Given the description of an element on the screen output the (x, y) to click on. 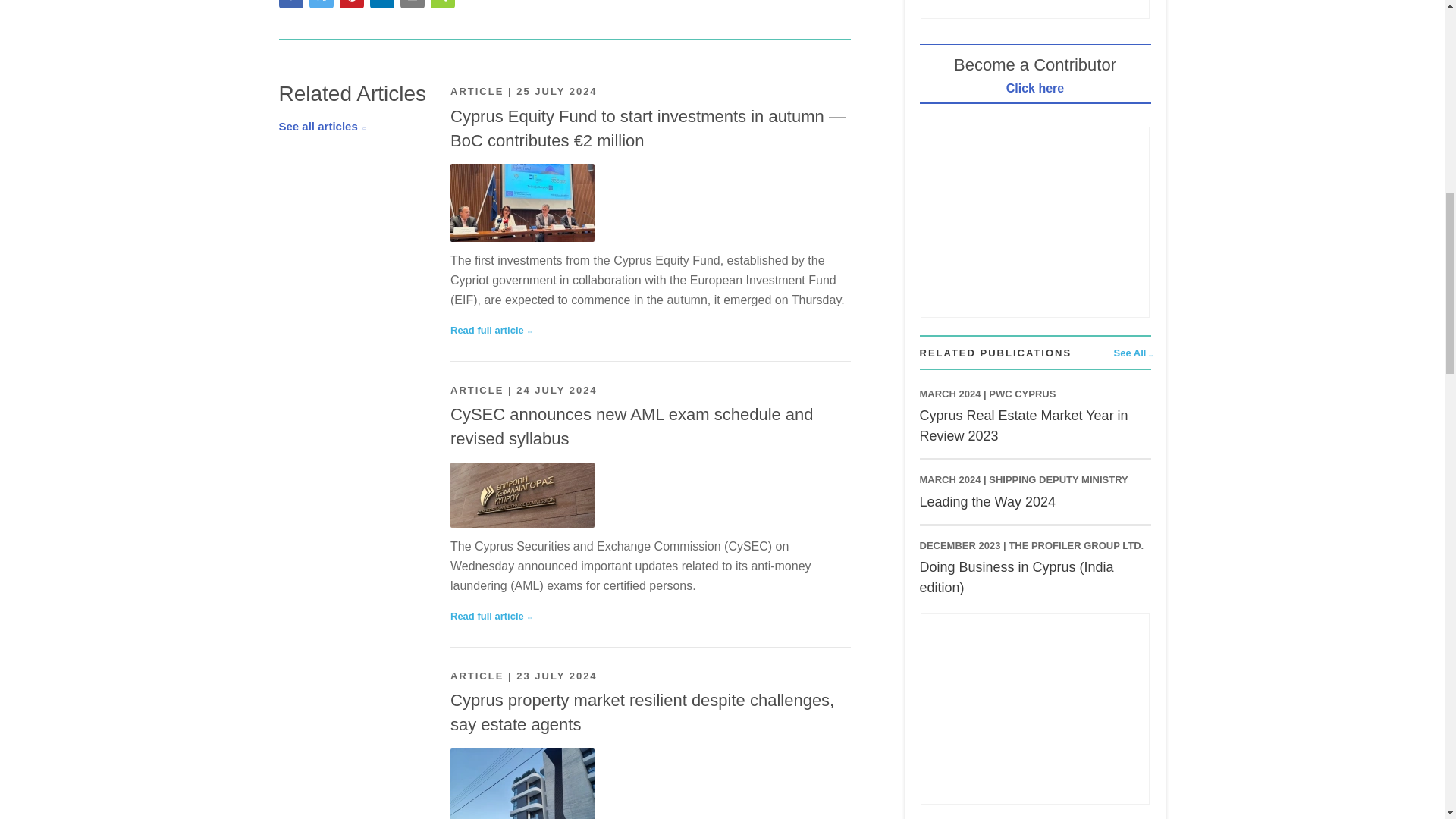
Leading the Way 2024 (986, 501)
3rd party ad content (1034, 708)
Cyprus Real Estate Market Year in Review 2023 (1022, 425)
View Company Profile (1021, 393)
3rd party ad content (1034, 9)
3rd party ad content (1034, 221)
View Company Profile (1057, 479)
View Company Profile (1075, 545)
